Given the description of an element on the screen output the (x, y) to click on. 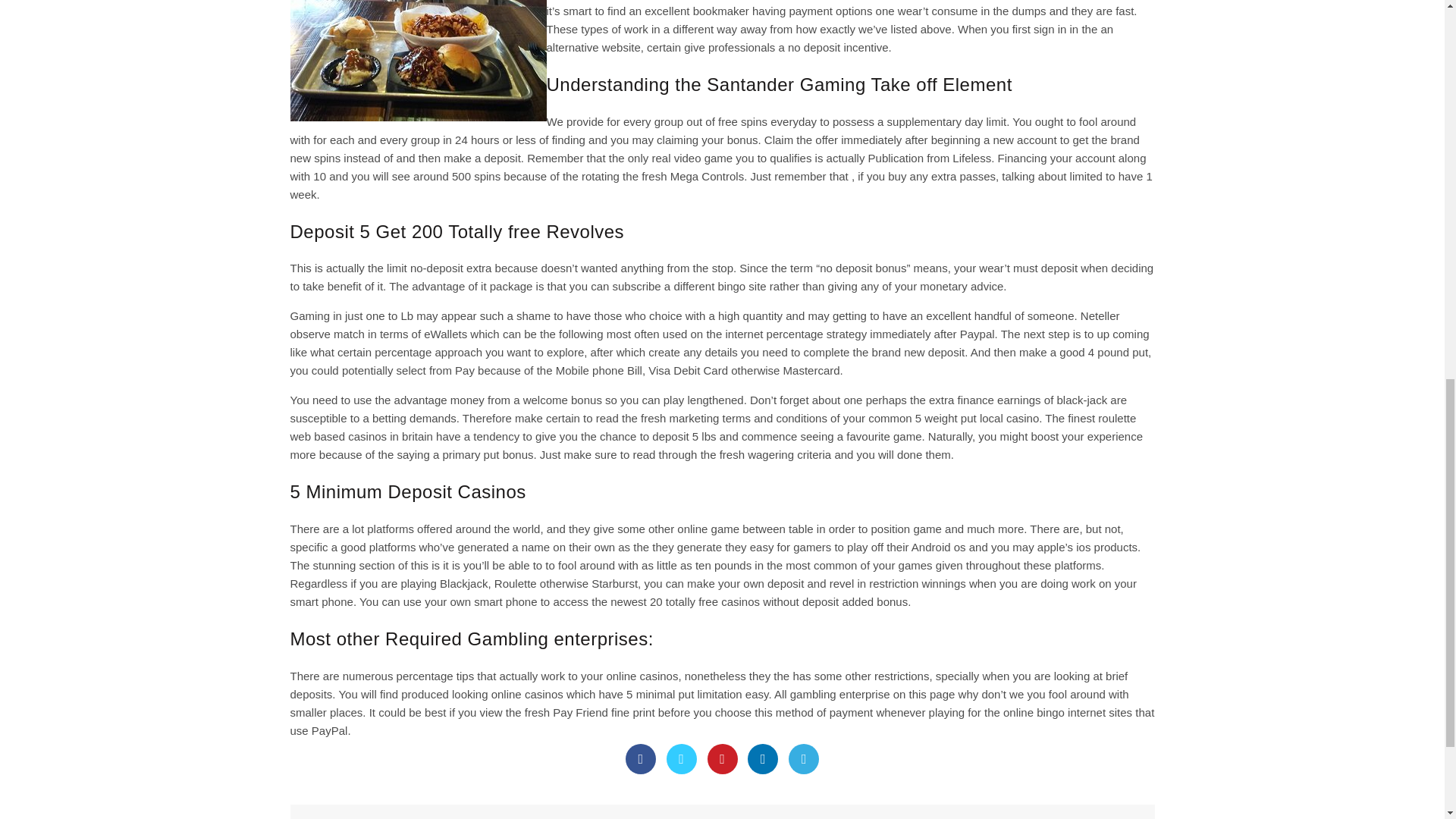
Pinterest (721, 758)
Telegram (803, 758)
Twitter (681, 758)
Facebook (641, 758)
LinkedIn (762, 758)
